Given the description of an element on the screen output the (x, y) to click on. 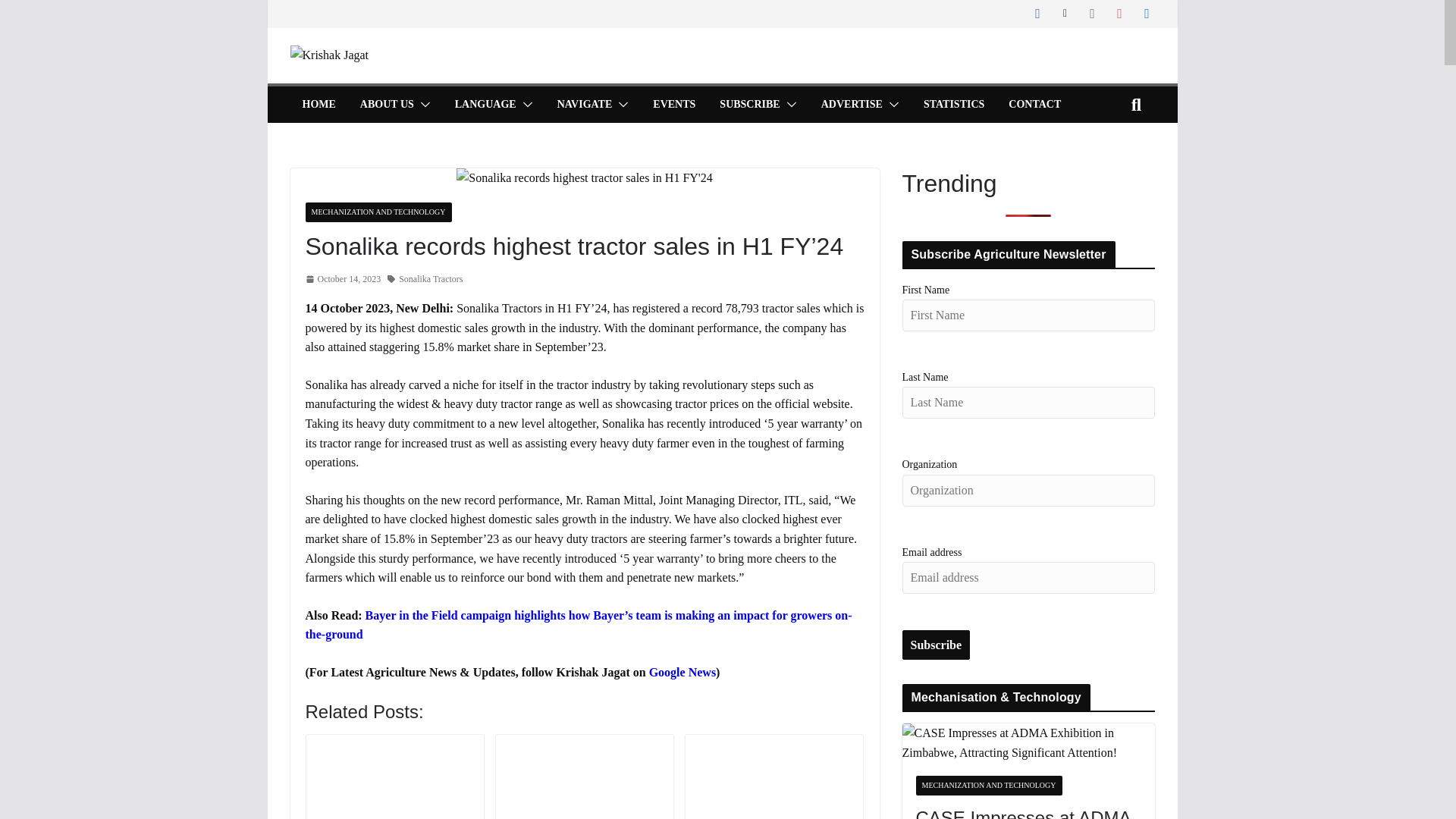
ADVERTISE (851, 104)
4:14 pm (342, 278)
NAVIGATE (584, 104)
EVENTS (673, 104)
LANGUAGE (485, 104)
Sonalika Tractors crosses 1 lakh sales mark (774, 778)
SUBSCRIBE (748, 104)
Subscribe (936, 644)
ABOUT US (386, 104)
HOME (317, 104)
